Given the description of an element on the screen output the (x, y) to click on. 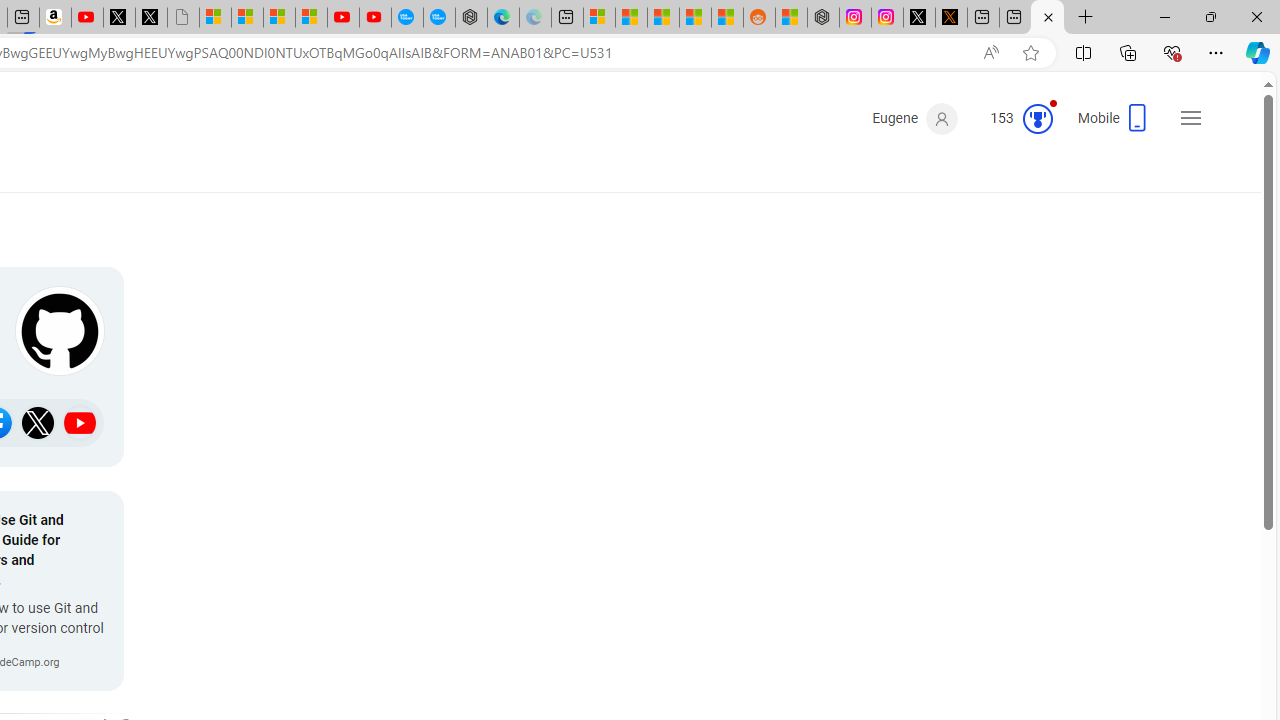
Log in to X / X (919, 17)
Class: medal-circled (1037, 118)
YouTube Kids - An App Created for Kids to Explore Content (374, 17)
Microsoft Rewards 153 (1014, 119)
Day 1: Arriving in Yemen (surreal to be here) - YouTube (87, 17)
Class: b_sitlk (80, 422)
The most popular Google 'how to' searches (438, 17)
